Given the description of an element on the screen output the (x, y) to click on. 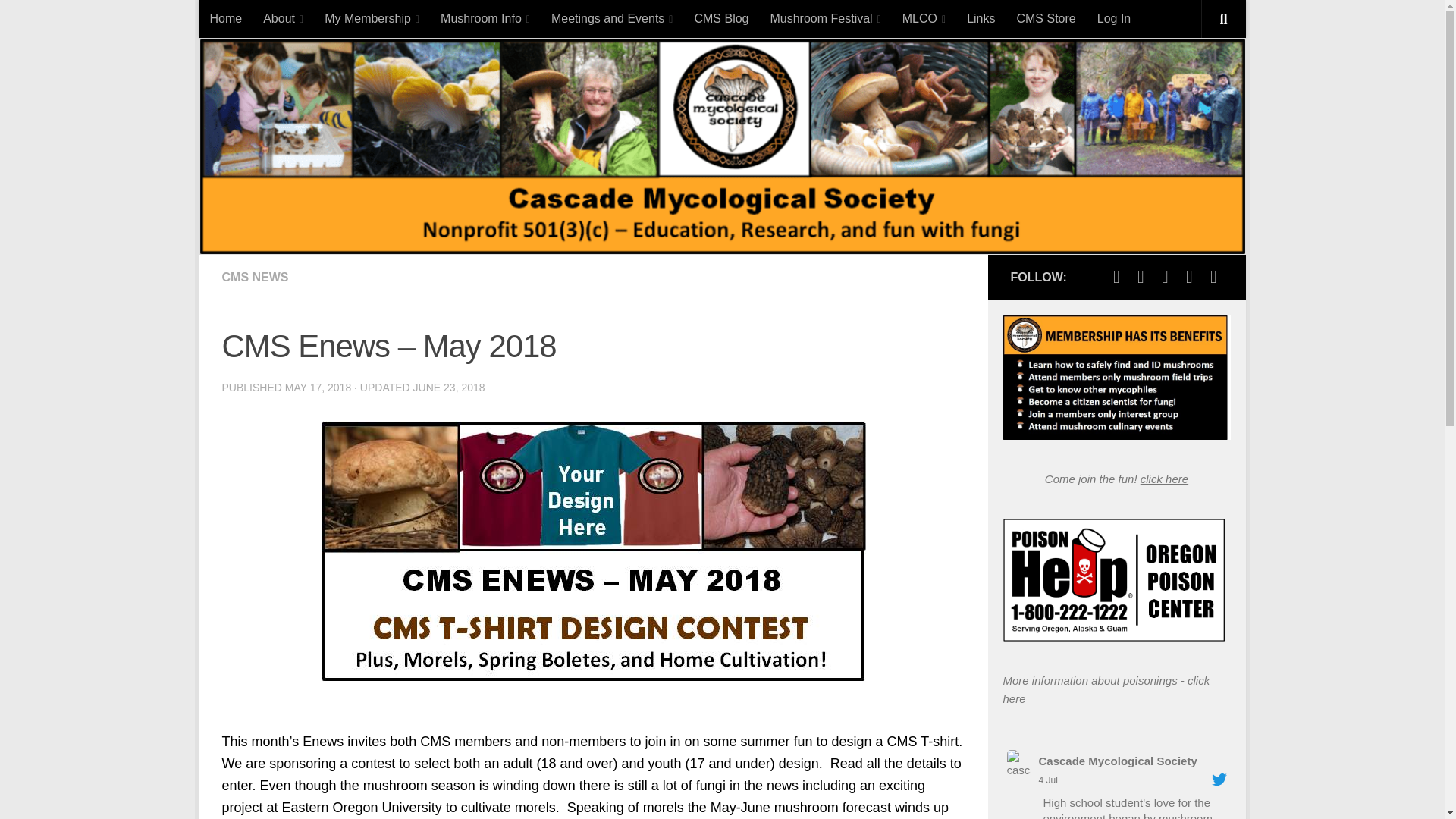
Follow us on Youtube (1188, 276)
Follow us on Facebook-official (1140, 276)
Follow us on Instagram (1213, 276)
Skip to content (263, 20)
Follow us on Pinterest-square (1164, 276)
Follow us on Twitter (1115, 276)
